Given the description of an element on the screen output the (x, y) to click on. 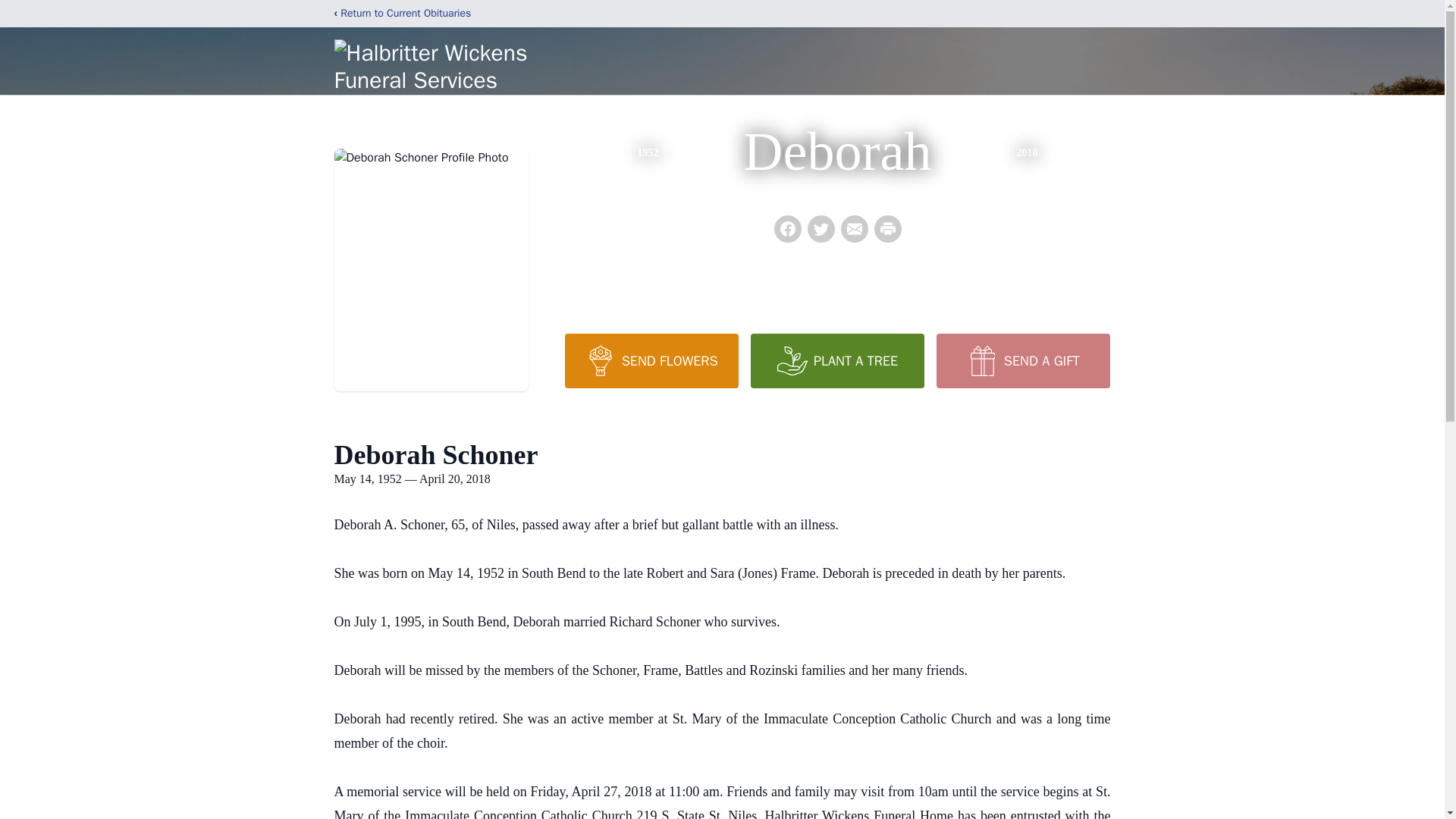
SEND FLOWERS (651, 360)
PLANT A TREE (837, 360)
SEND A GIFT (1022, 360)
